Given the description of an element on the screen output the (x, y) to click on. 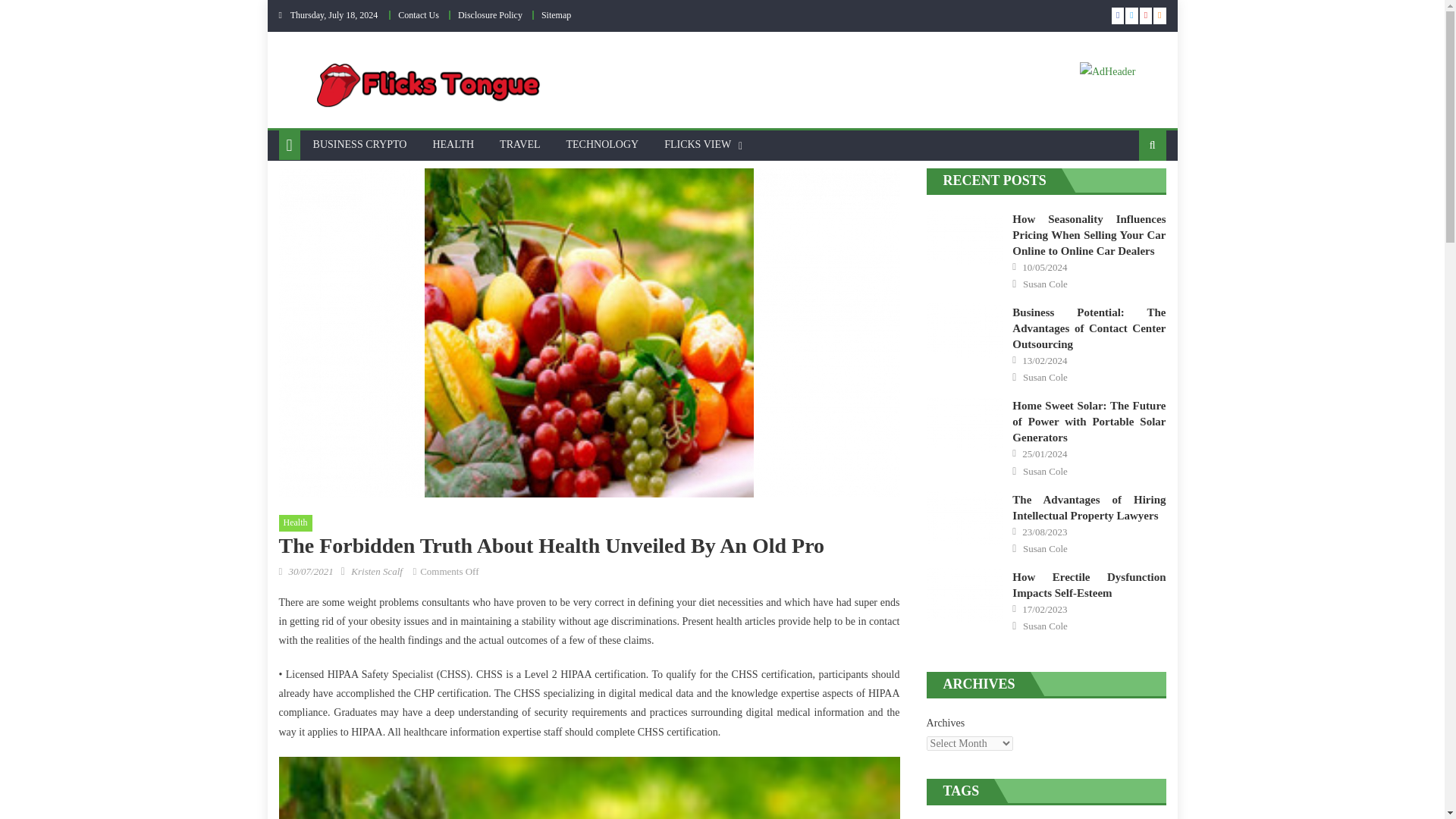
HEALTH (452, 144)
Disclosure Policy (490, 14)
Kristen Scalf (376, 571)
The Forbidden Truth About Health Unveiled By An Old Pro (589, 787)
Search (1128, 194)
The Advantages of Hiring Intellectual Property Lawyers (964, 517)
TRAVEL (519, 144)
Contact Us (418, 14)
Health (296, 523)
BUSINESS CRYPTO (360, 144)
Sitemap (555, 14)
